Given the description of an element on the screen output the (x, y) to click on. 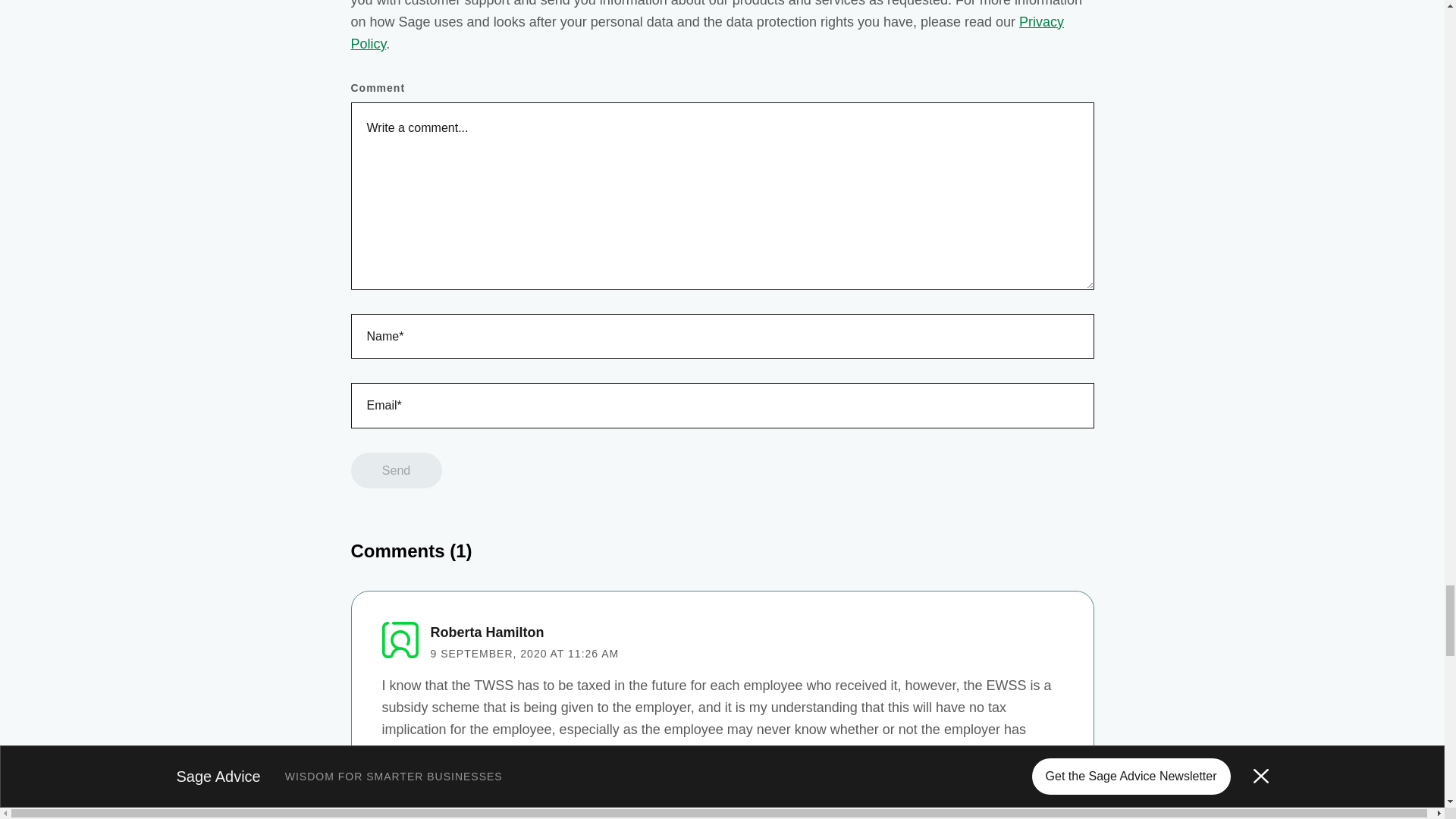
Send (395, 470)
